Given the description of an element on the screen output the (x, y) to click on. 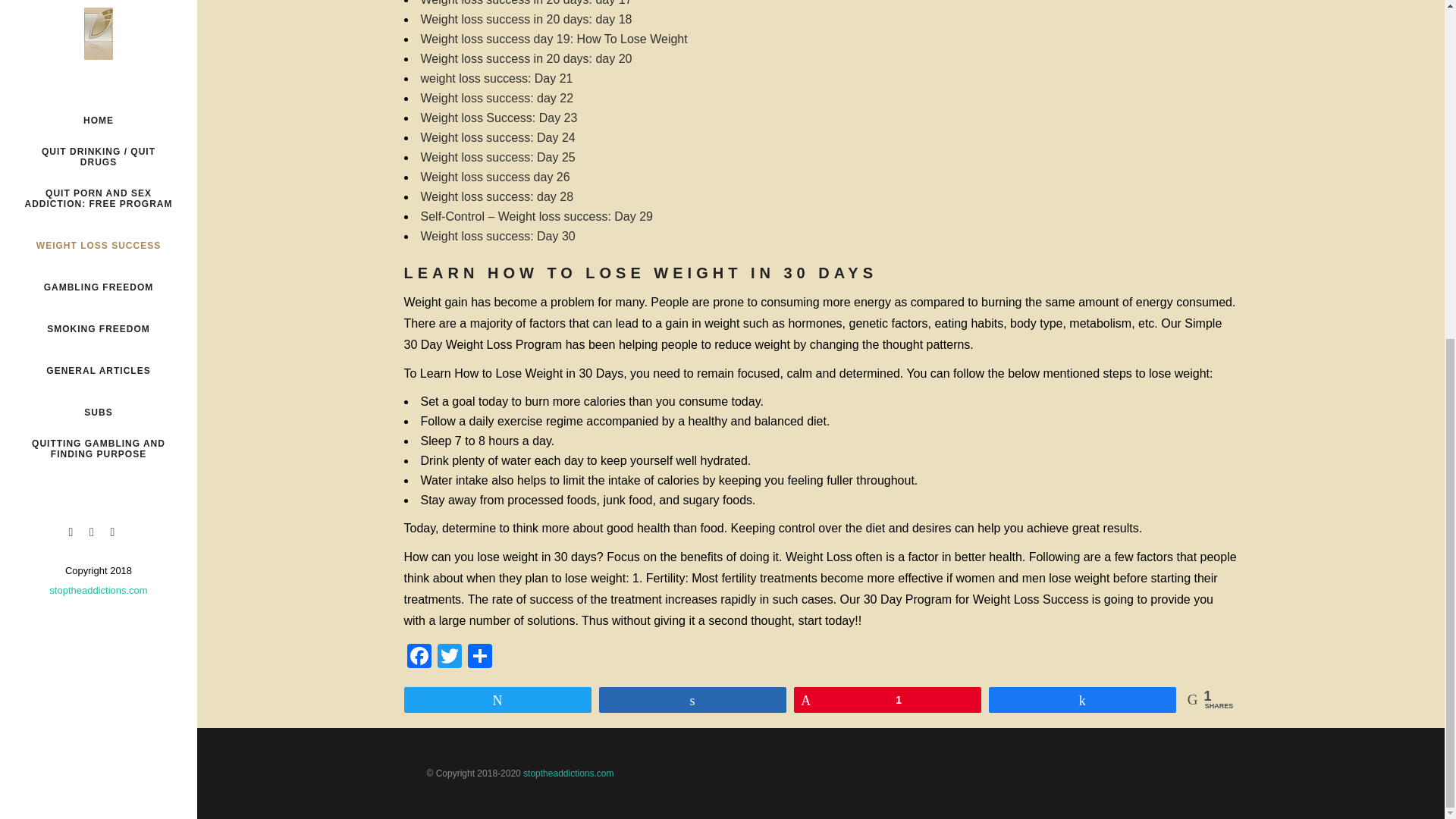
Twitter (448, 657)
Facebook (418, 657)
